Given the description of an element on the screen output the (x, y) to click on. 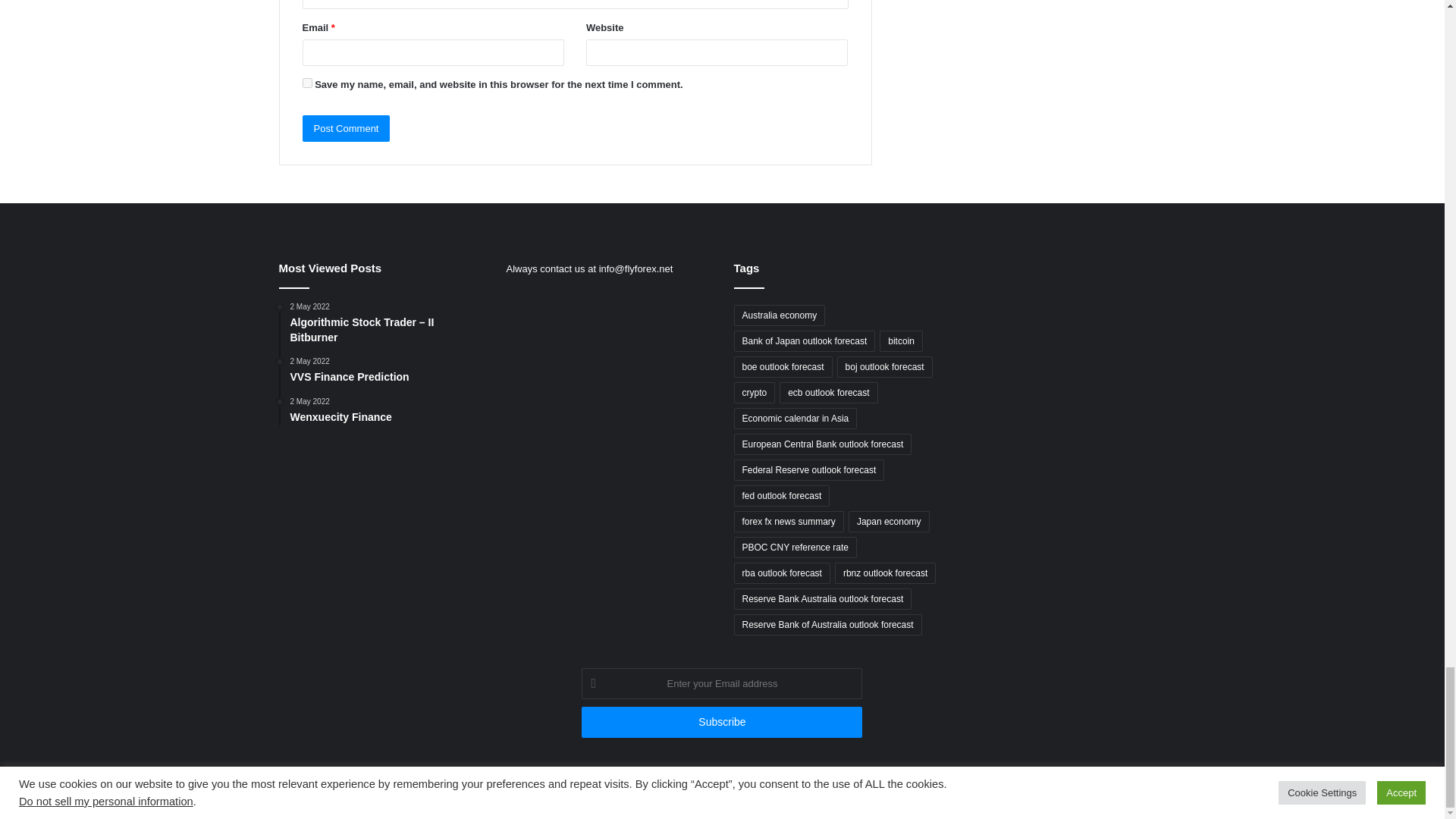
yes (306, 82)
Subscribe (720, 721)
Post Comment (345, 128)
